Given the description of an element on the screen output the (x, y) to click on. 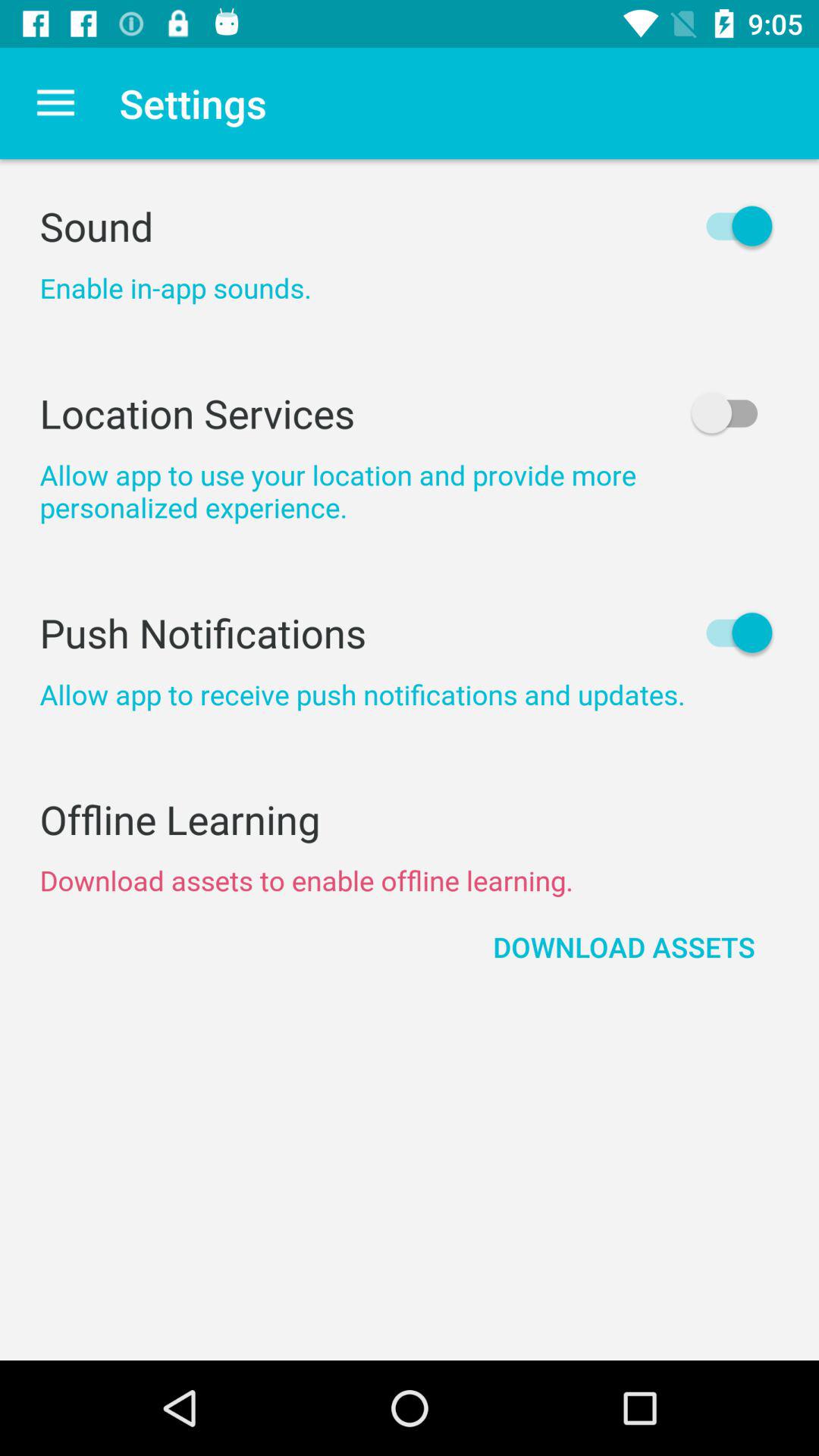
turn off the location services icon (409, 413)
